Given the description of an element on the screen output the (x, y) to click on. 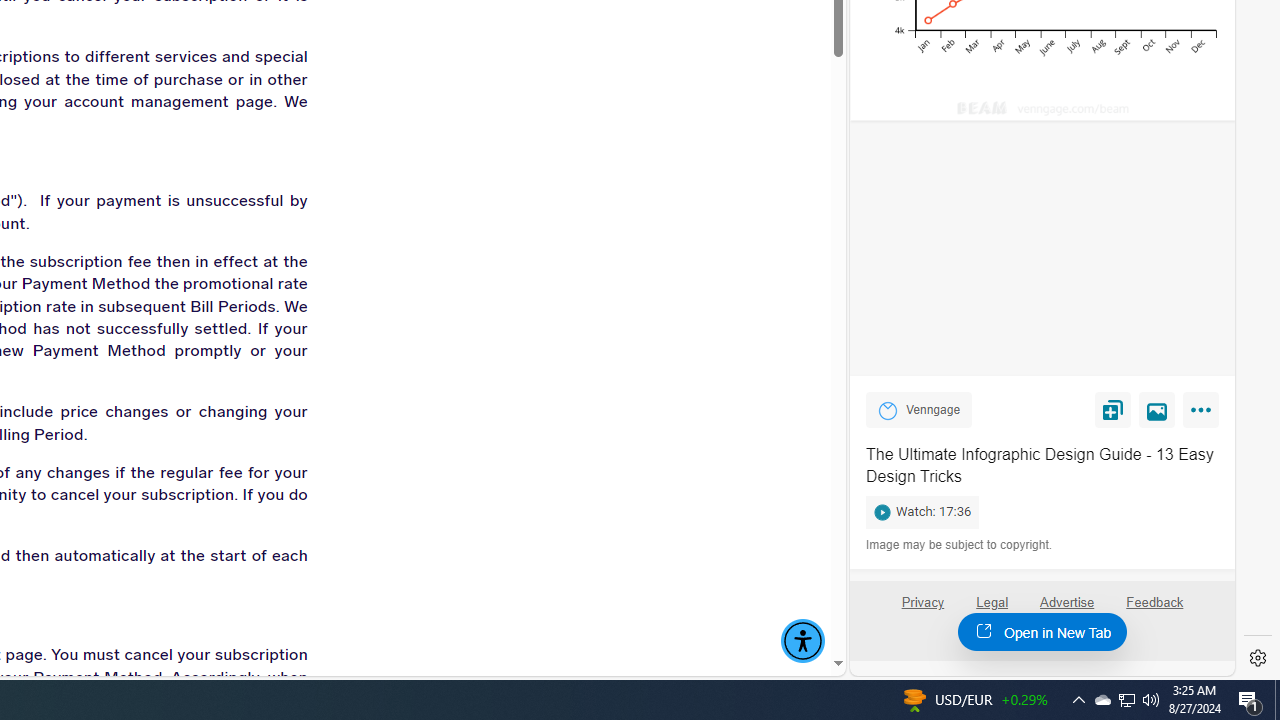
Accessibility Menu (802, 641)
Open in New Tab (1042, 631)
